Given the description of an element on the screen output the (x, y) to click on. 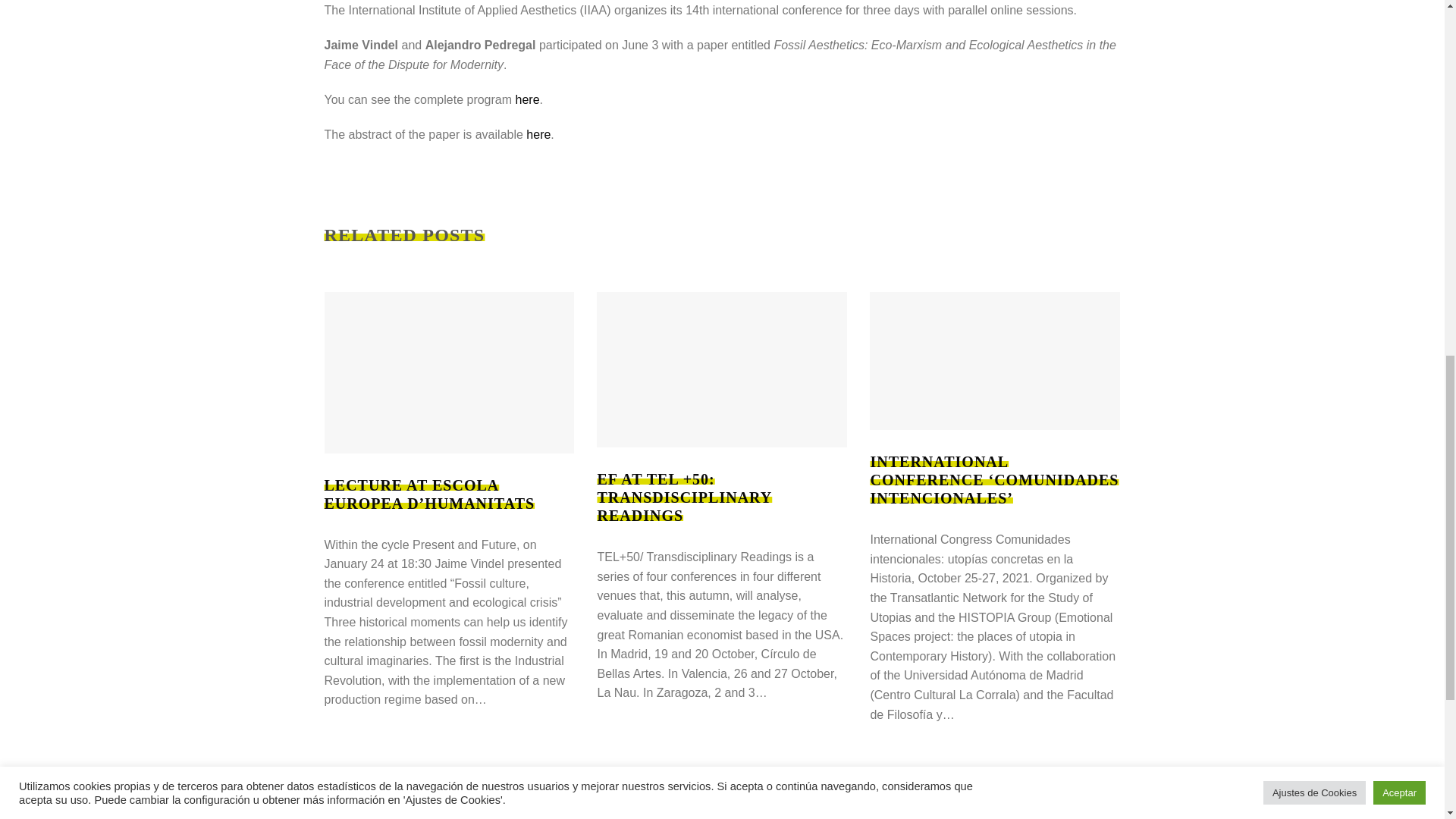
here (527, 99)
here (537, 133)
